Given the description of an element on the screen output the (x, y) to click on. 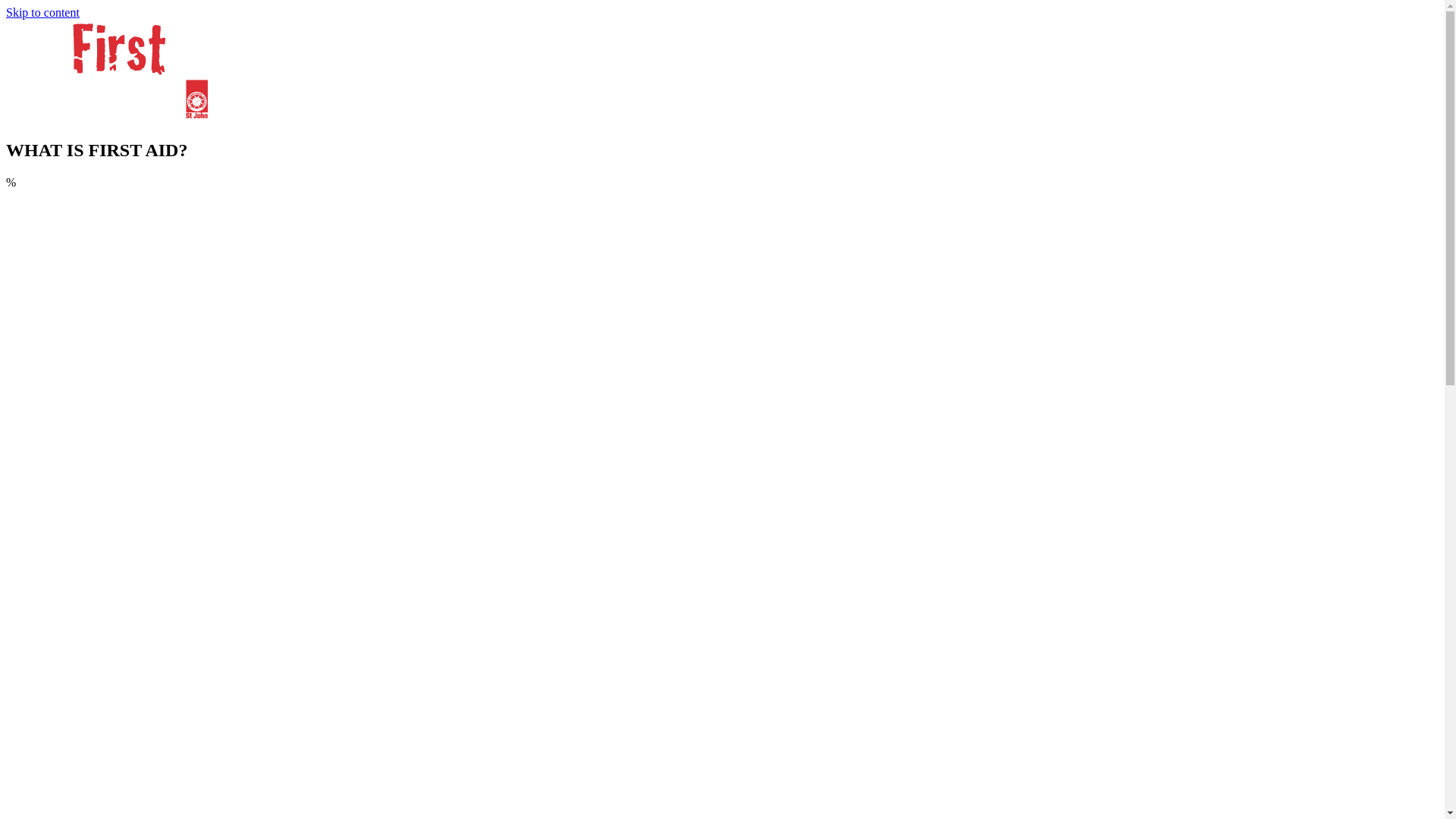
FirstAtSceneLogo-web Element type: hover (114, 70)
Skip to content Element type: text (42, 12)
